Given the description of an element on the screen output the (x, y) to click on. 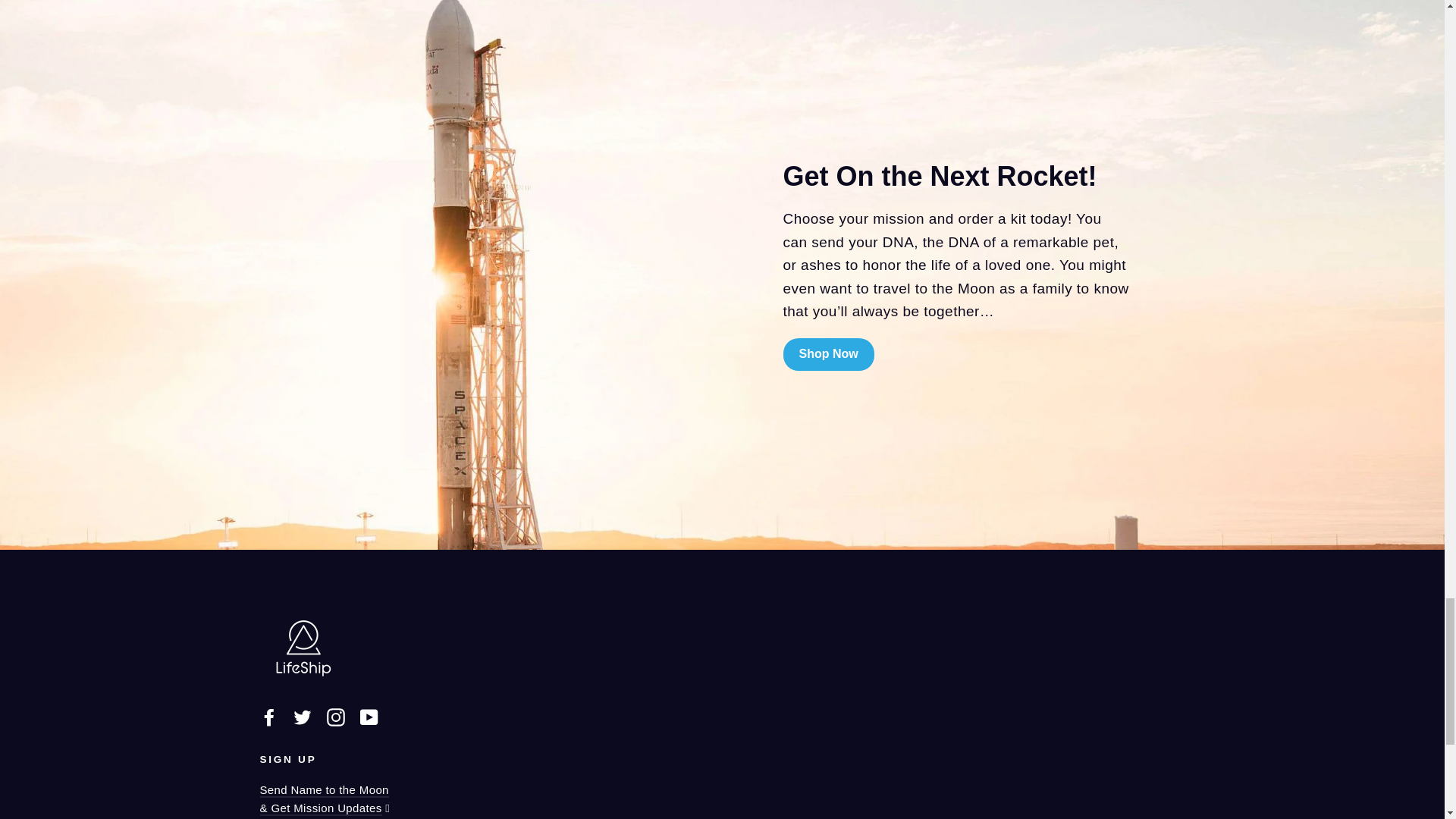
LifeShip on Twitter (302, 716)
Send your name to the Moon (323, 798)
Shop Now (828, 354)
LifeShip on YouTube (368, 716)
